Given the description of an element on the screen output the (x, y) to click on. 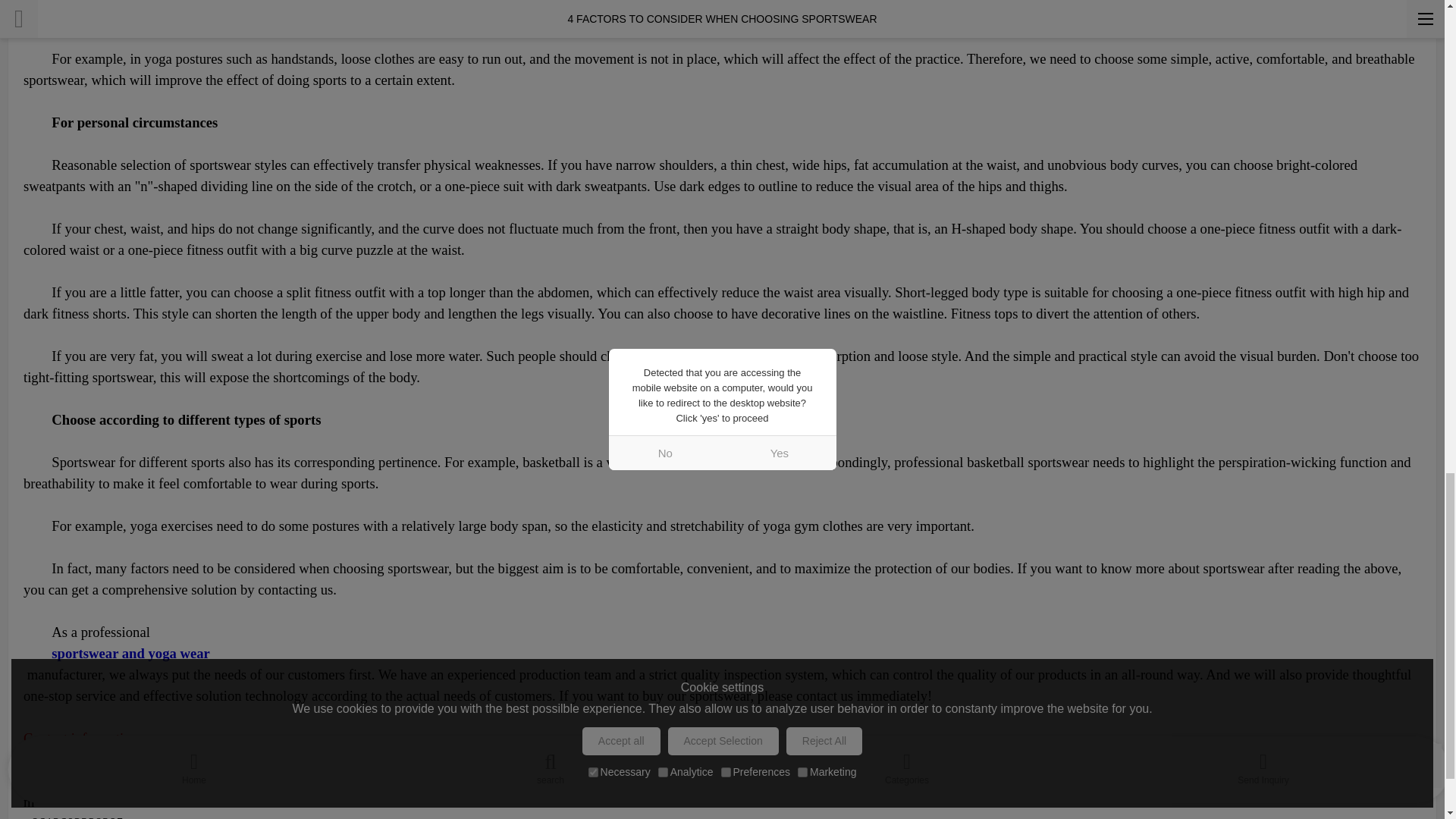
sportswear and yoga wear (722, 653)
